Given the description of an element on the screen output the (x, y) to click on. 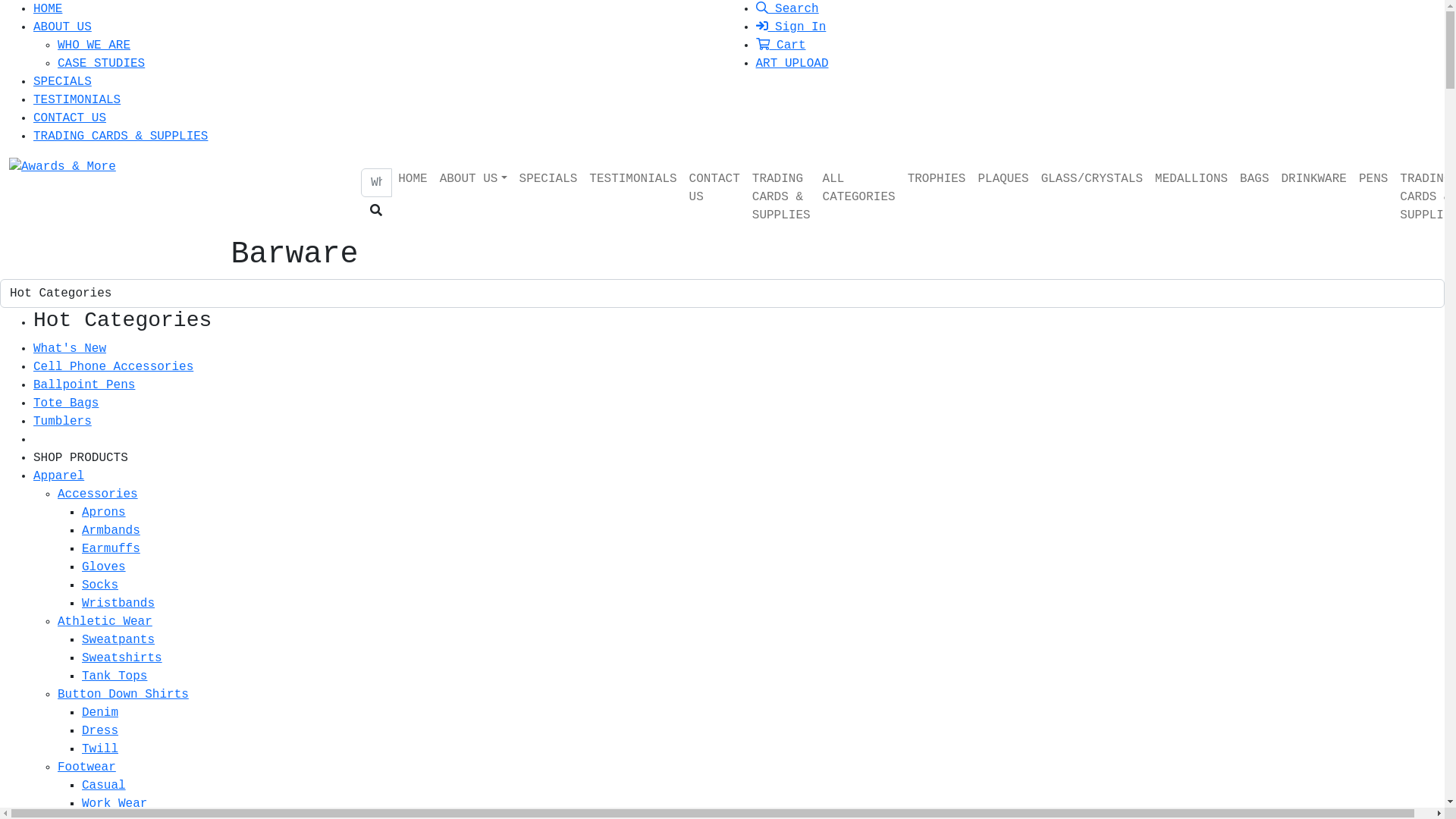
Sign In Element type: text (790, 27)
PLAQUES Element type: text (1002, 178)
What's New Element type: text (69, 348)
Sweatshirts Element type: text (121, 658)
HOME Element type: text (47, 8)
subpage Element type: hover (842, 364)
SPECIALS Element type: text (62, 81)
Apparel Element type: text (58, 476)
BAGS Element type: text (1253, 178)
Button Down Shirts Element type: text (122, 694)
HOME Element type: text (412, 178)
Athletic Wear Element type: text (104, 621)
TESTIMONIALS Element type: text (76, 99)
Work Wear Element type: text (114, 803)
ABOUT US Element type: text (62, 27)
TESTIMONIALS Element type: text (632, 178)
Cell Phone Accessories Element type: text (113, 366)
Twill Element type: text (99, 749)
TRADING CARDS & SUPPLIES Element type: text (120, 136)
Casual Element type: text (103, 785)
Gloves Element type: text (103, 567)
Denim Element type: text (99, 712)
Footwear Element type: text (86, 767)
Aprons Element type: text (103, 512)
MEDALLIONS Element type: text (1190, 178)
TROPHIES Element type: text (936, 178)
ABOUT US Element type: text (473, 178)
GLASS/CRYSTALS Element type: text (1091, 178)
DRINKWARE Element type: text (1313, 178)
ART UPLOAD Element type: text (791, 63)
Wristbands Element type: text (117, 603)
CASE STUDIES Element type: text (100, 63)
Tote Bags Element type: text (65, 403)
Armbands Element type: text (110, 530)
Search Element type: text (786, 8)
CONTACT US Element type: text (69, 118)
WHO WE ARE Element type: text (93, 45)
PENS Element type: text (1372, 178)
TRADING CARDS & SUPPLIES Element type: text (781, 196)
Earmuffs Element type: text (110, 548)
CONTACT US Element type: text (714, 187)
Sweatpants Element type: text (117, 639)
Dress Element type: text (99, 730)
Tank Tops Element type: text (114, 676)
Cart Element type: text (780, 45)
ALL CATEGORIES Element type: text (858, 187)
Socks Element type: text (99, 585)
Tumblers Element type: text (62, 421)
Ballpoint Pens Element type: text (83, 385)
SPECIALS Element type: text (548, 178)
Accessories Element type: text (97, 494)
